Given the description of an element on the screen output the (x, y) to click on. 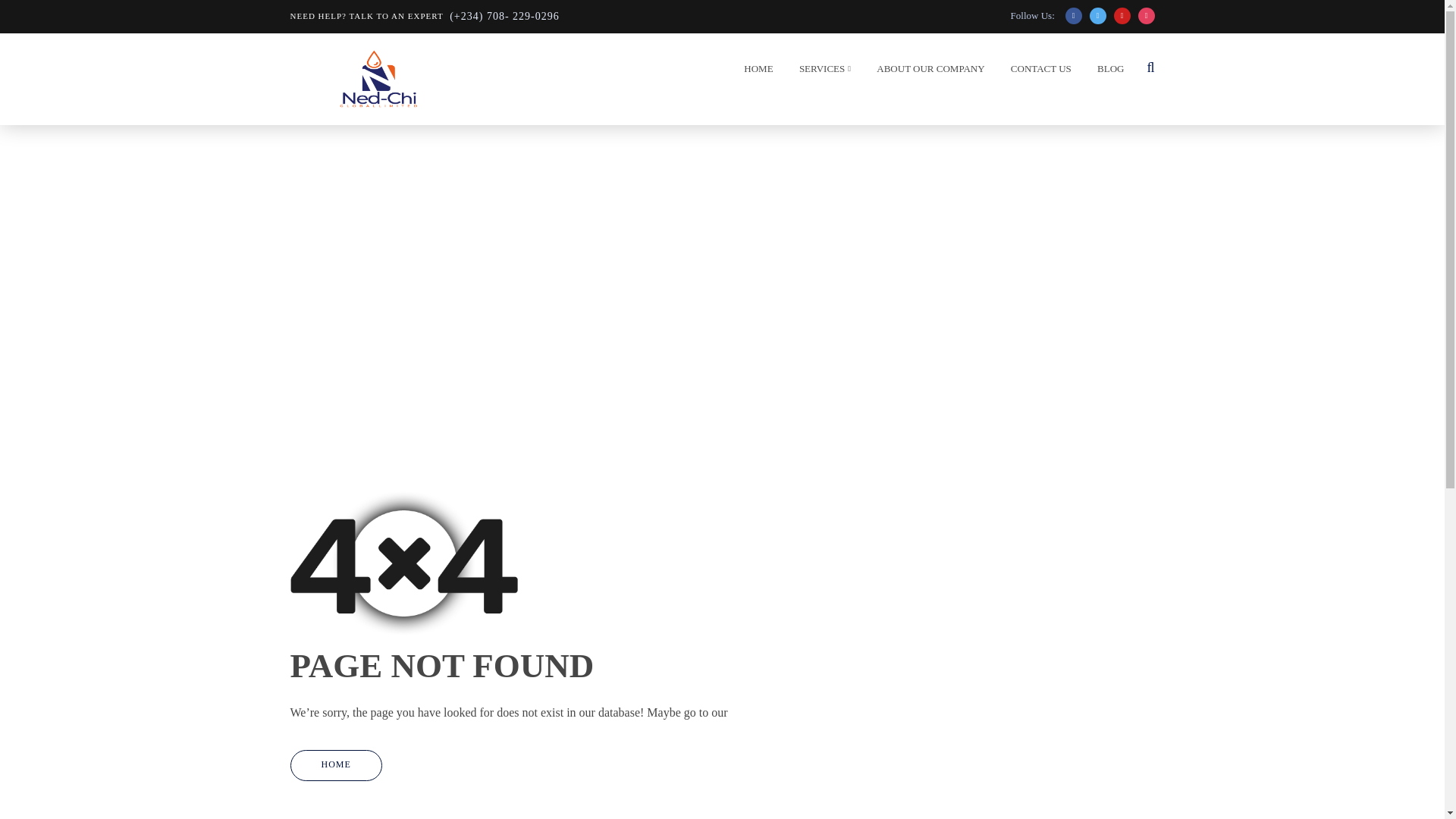
CONTACT US (1037, 71)
HOME (754, 71)
ABOUT OUR COMPANY (925, 71)
BLOG (1106, 71)
SERVICES (820, 71)
HOME (335, 765)
